Given the description of an element on the screen output the (x, y) to click on. 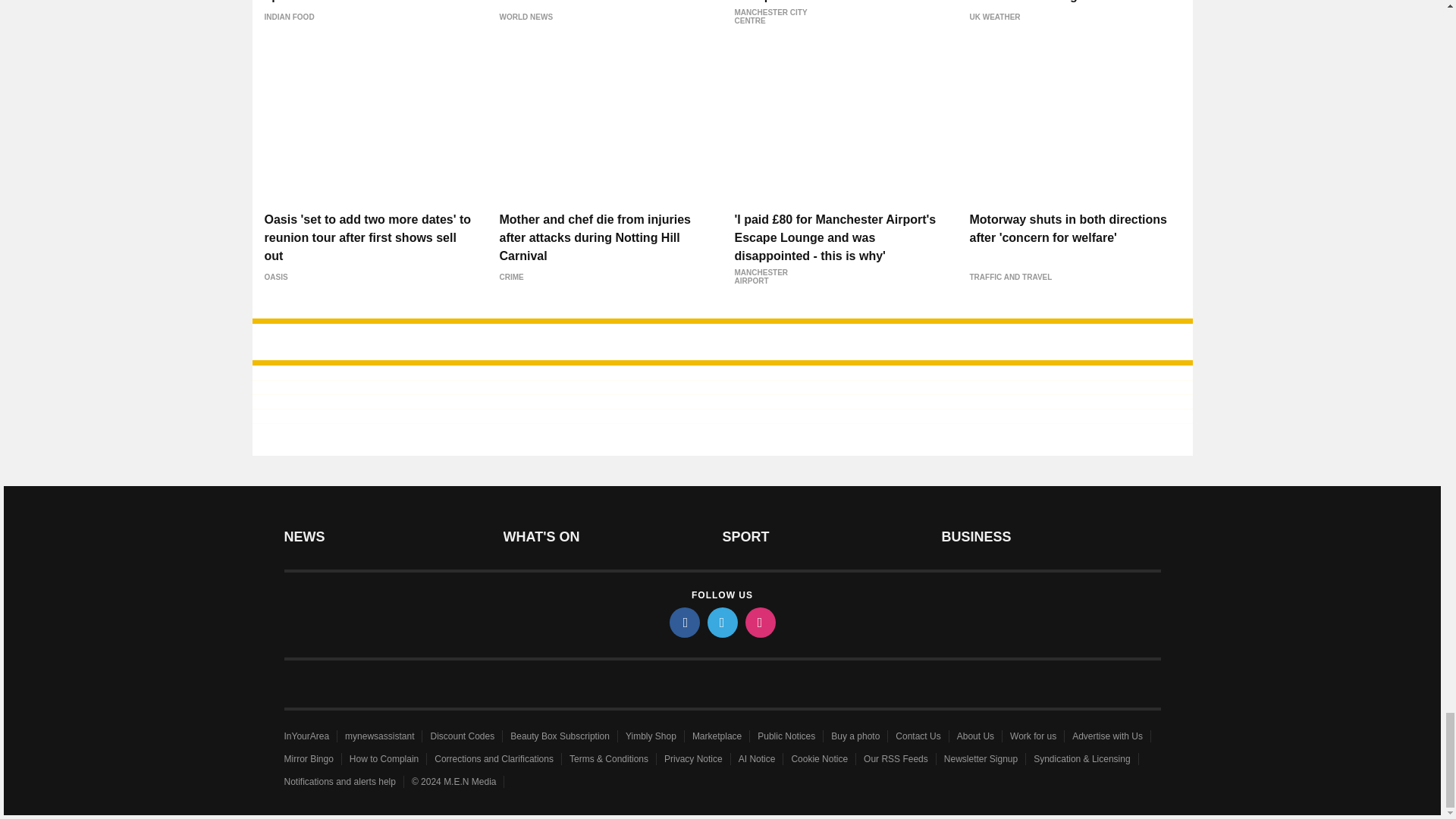
facebook (683, 622)
instagram (759, 622)
twitter (721, 622)
